Given the description of an element on the screen output the (x, y) to click on. 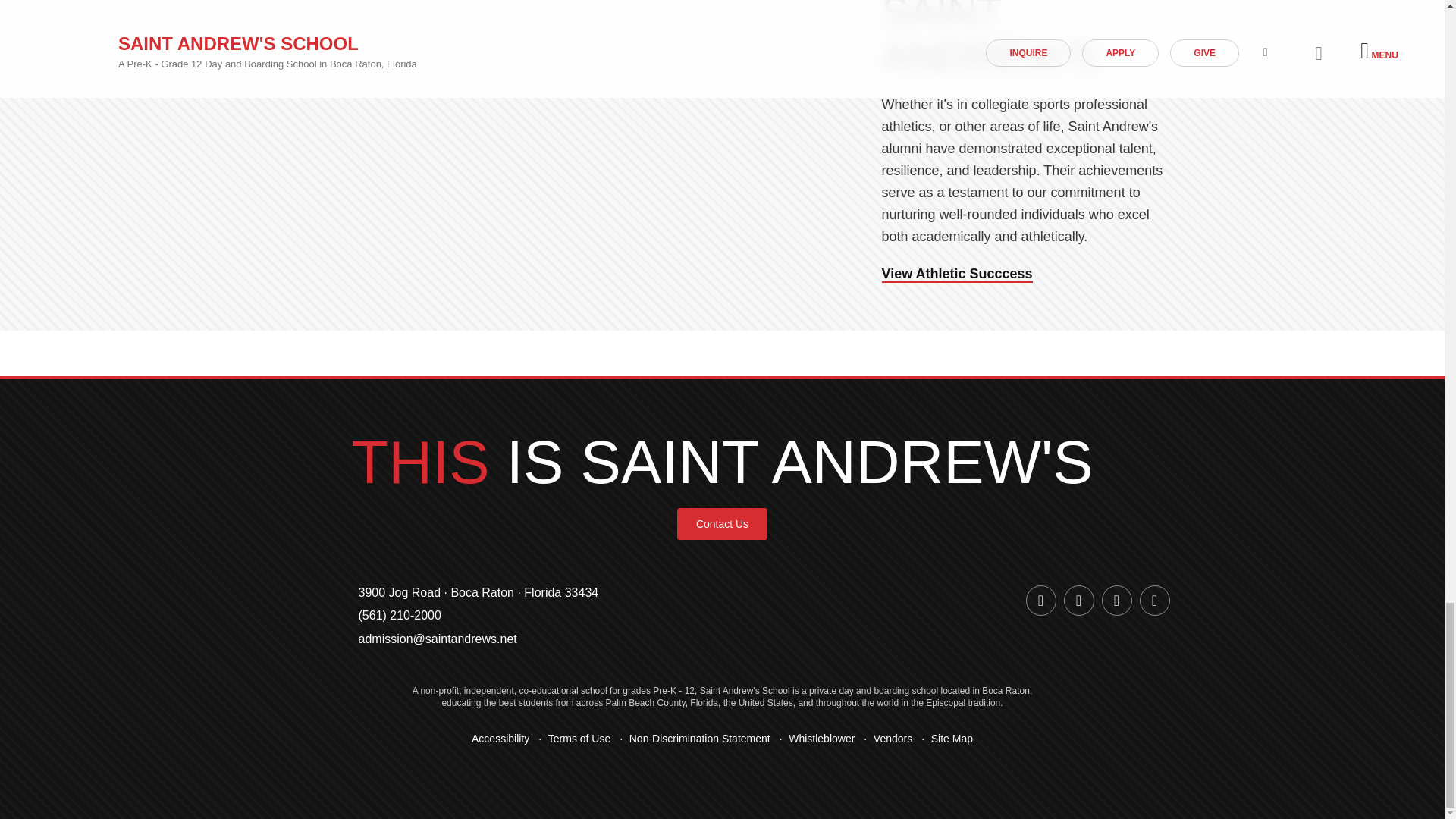
Powered by Finalsite opens in a new window (721, 786)
